Given the description of an element on the screen output the (x, y) to click on. 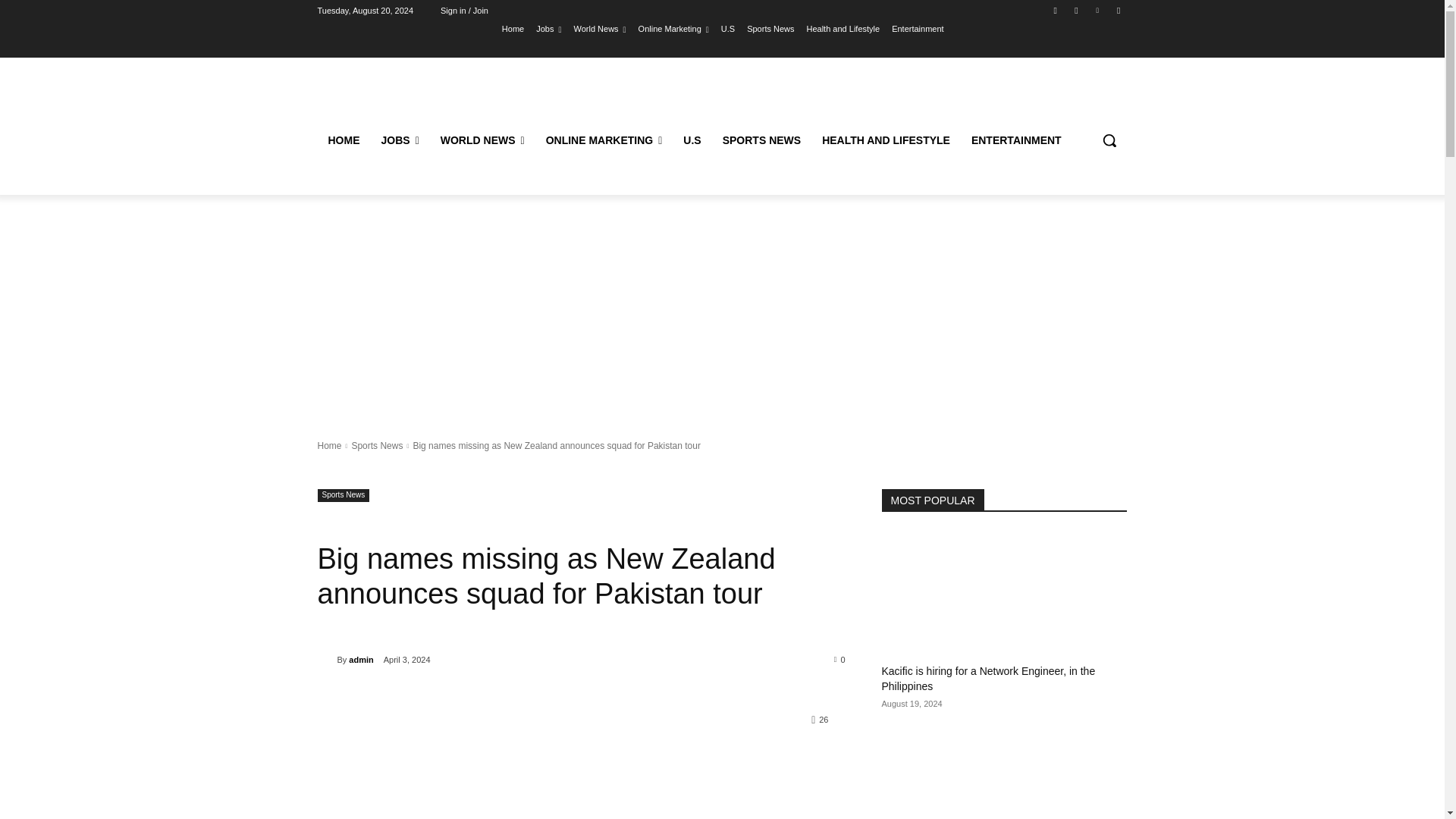
View all posts in Sports News (376, 445)
Instagram (1075, 9)
Jobs (547, 28)
Home (513, 28)
Linkedin (1097, 9)
Youtube (1117, 9)
Facebook (1055, 9)
admin (326, 659)
